Given the description of an element on the screen output the (x, y) to click on. 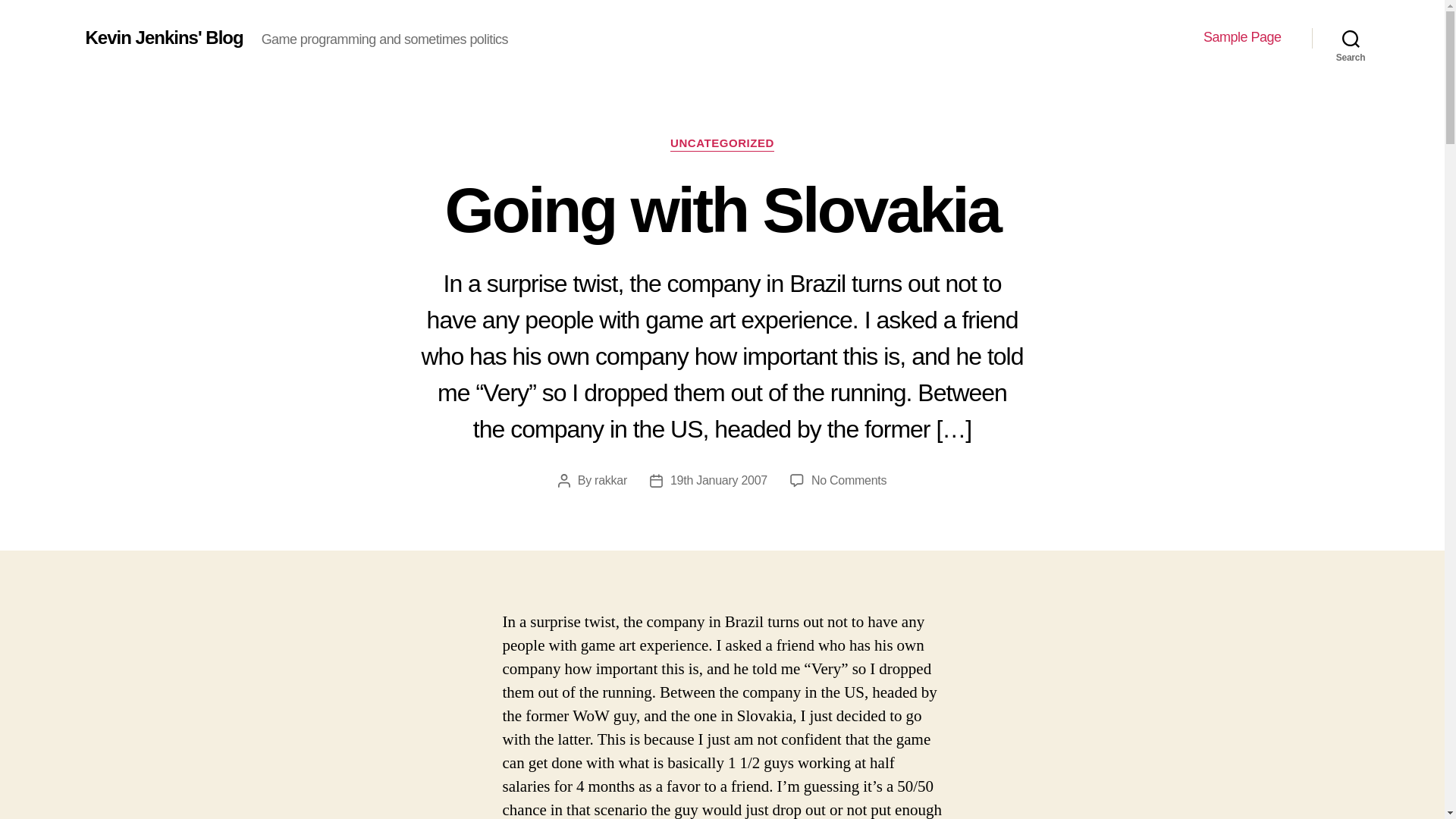
Kevin Jenkins' Blog (163, 37)
rakkar (848, 480)
Sample Page (610, 480)
Search (1242, 37)
UNCATEGORIZED (1350, 37)
19th January 2007 (721, 143)
